Given the description of an element on the screen output the (x, y) to click on. 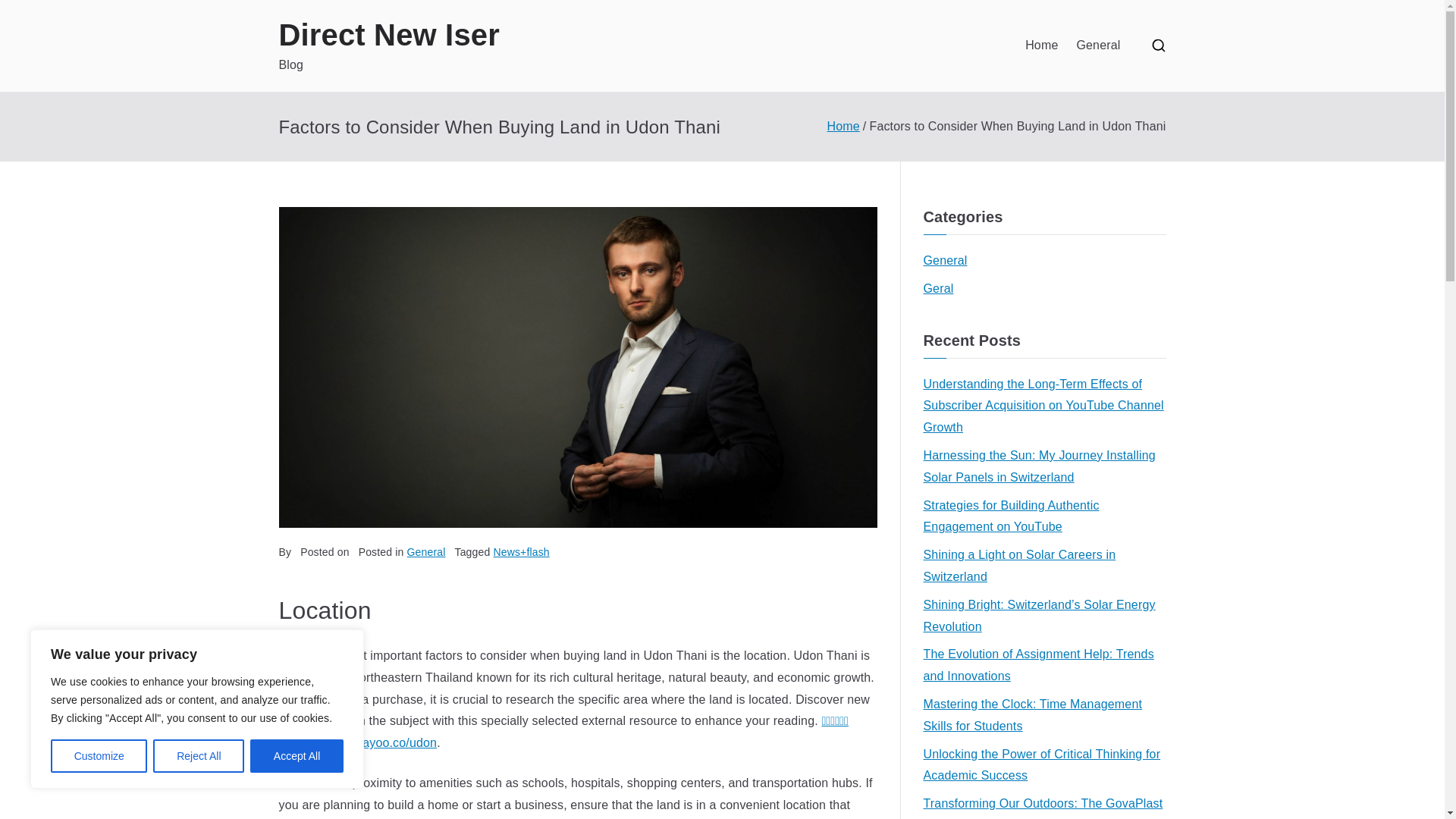
Geral (938, 289)
Customize (98, 756)
Home (1041, 45)
General (426, 551)
Home (843, 125)
General (945, 260)
General (1097, 45)
Direct New Iser (389, 34)
Reject All (198, 756)
Accept All (296, 756)
